Given the description of an element on the screen output the (x, y) to click on. 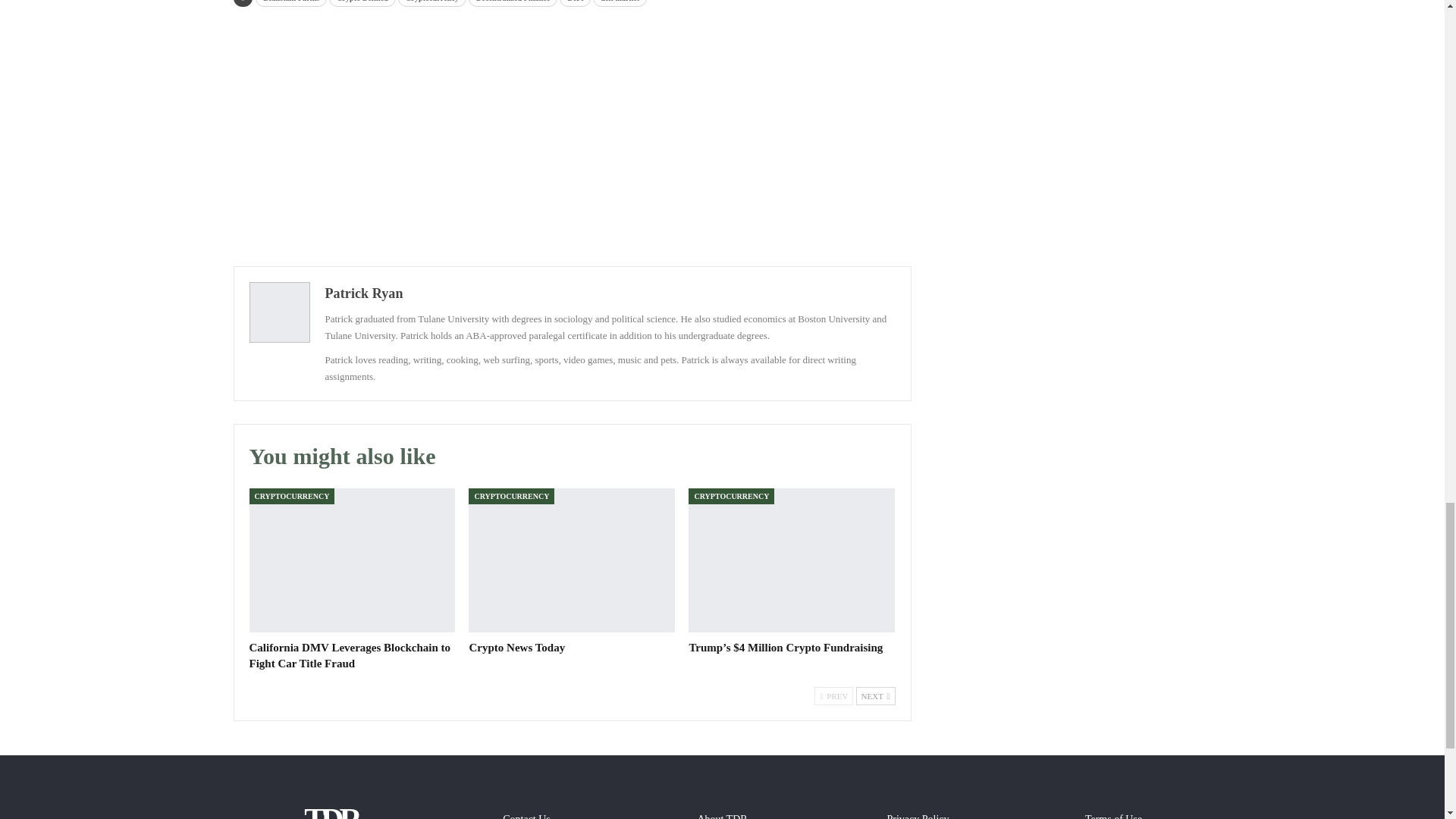
Crypto News Today (516, 647)
Beanstalk Farms (291, 3)
Crypto Defined (362, 3)
Crypto News Today (571, 560)
Cryptocurrency (431, 3)
Next (875, 696)
California DMV Leverages Blockchain to Fight Car Title Fraud (351, 560)
Previous (833, 696)
Decentralized Finance (512, 3)
DeFi (575, 3)
